Given the description of an element on the screen output the (x, y) to click on. 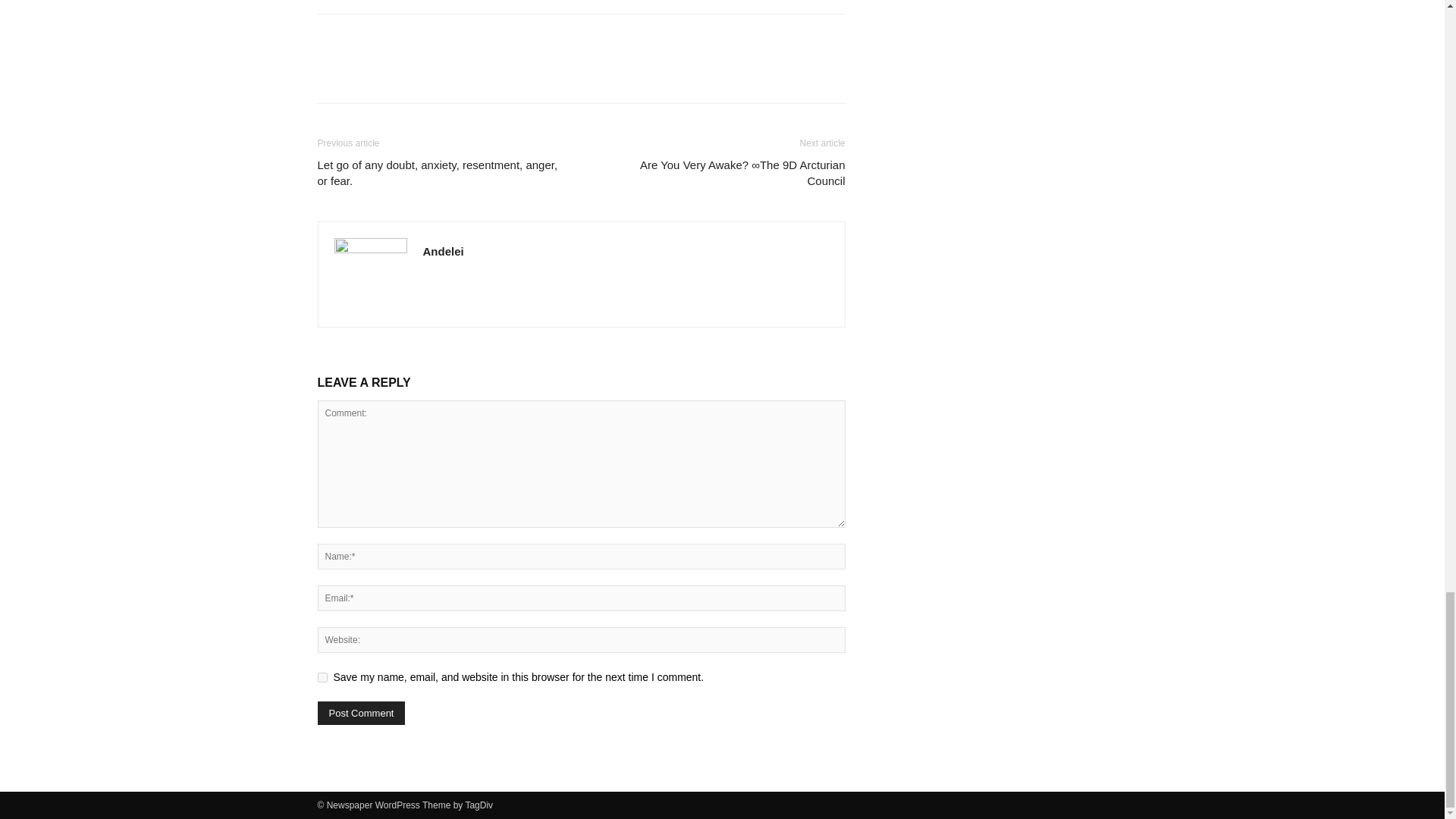
Post Comment (360, 712)
yes (321, 677)
Let go of any doubt, anxiety, resentment, anger, or fear. (439, 173)
